Given the description of an element on the screen output the (x, y) to click on. 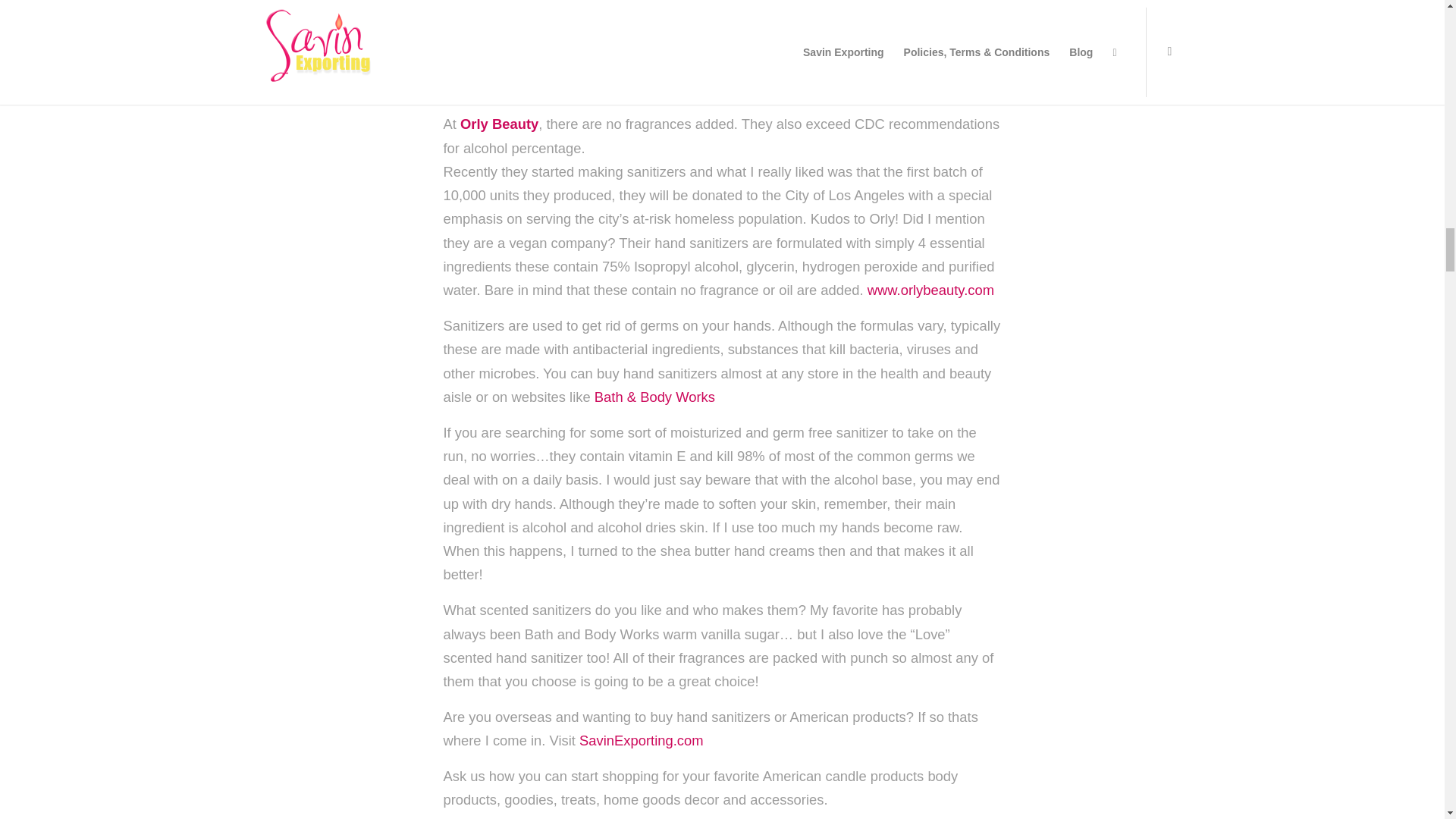
www.yoobie.com (787, 21)
www.orlybeauty.com (930, 289)
SavinExporting.com (641, 740)
